Given the description of an element on the screen output the (x, y) to click on. 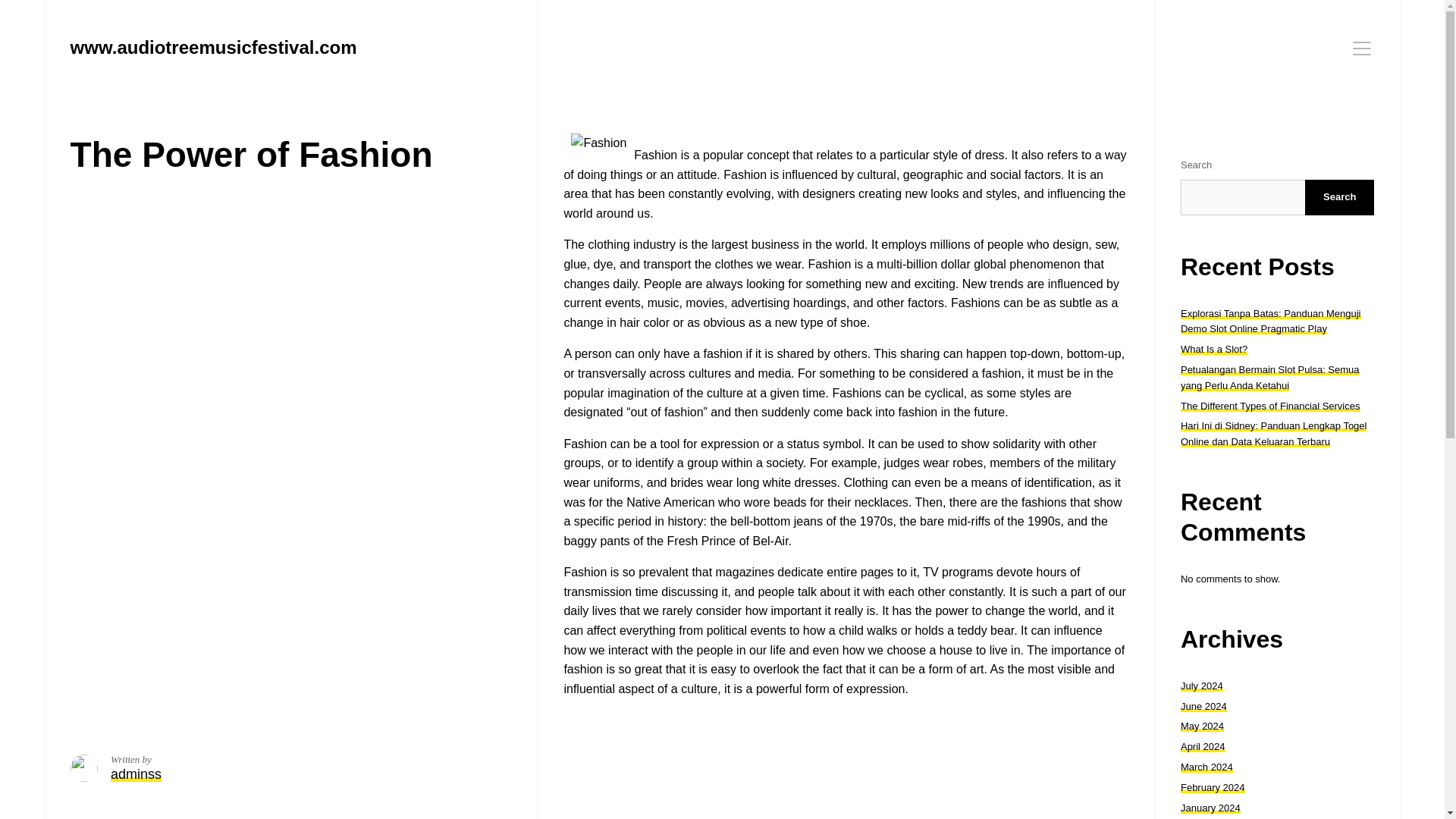
adminss (135, 773)
Menu (1361, 48)
What Is a Slot? (1213, 348)
March 2024 (1206, 767)
www.audiotreemusicfestival.com (212, 47)
February 2024 (1212, 787)
January 2024 (1210, 808)
The Different Types of Financial Services (1269, 405)
July 2024 (1201, 685)
Search (1339, 197)
June 2024 (1203, 706)
April 2024 (1202, 746)
